Given the description of an element on the screen output the (x, y) to click on. 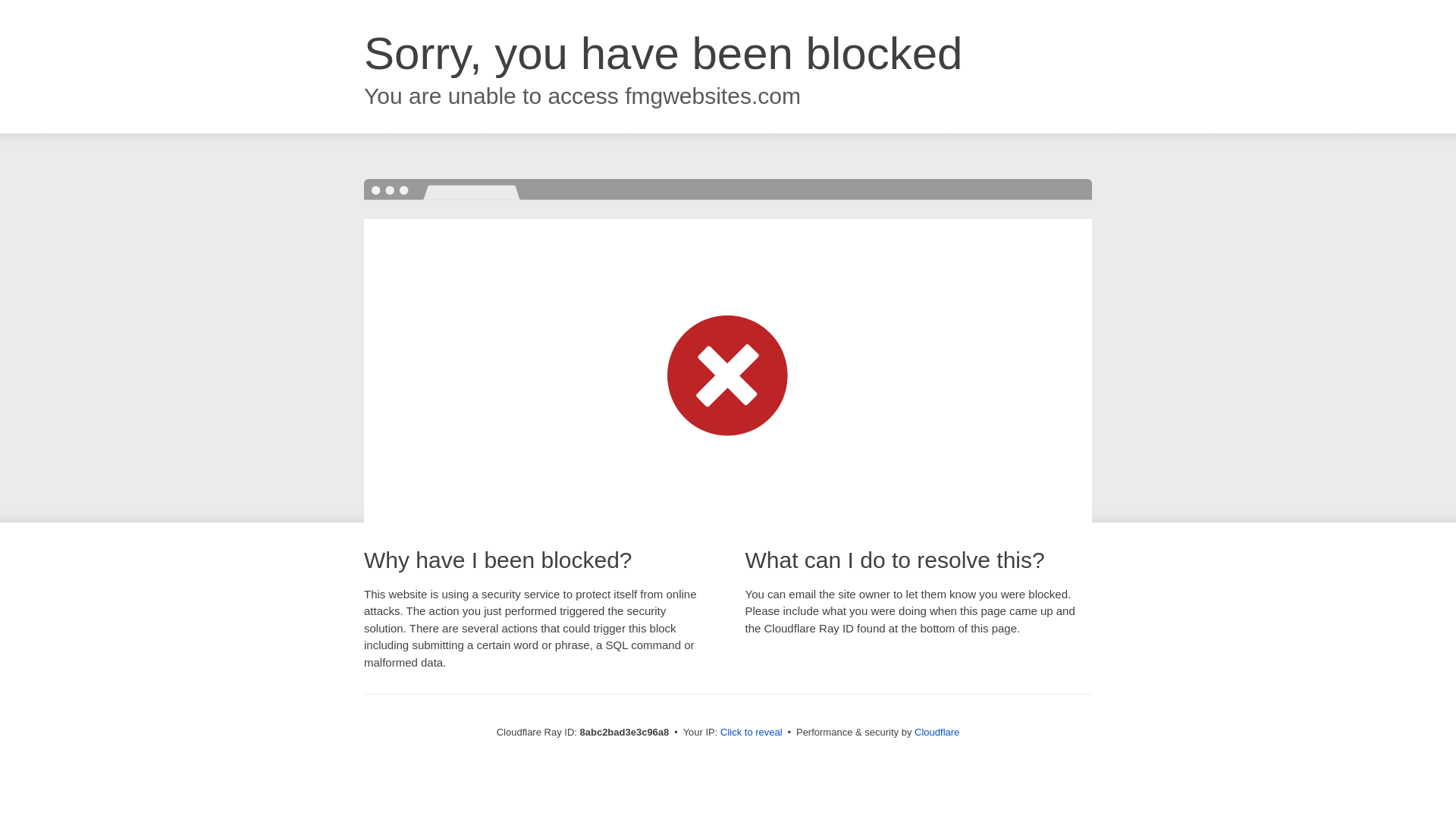
Cloudflare (936, 731)
Click to reveal (751, 732)
